Given the description of an element on the screen output the (x, y) to click on. 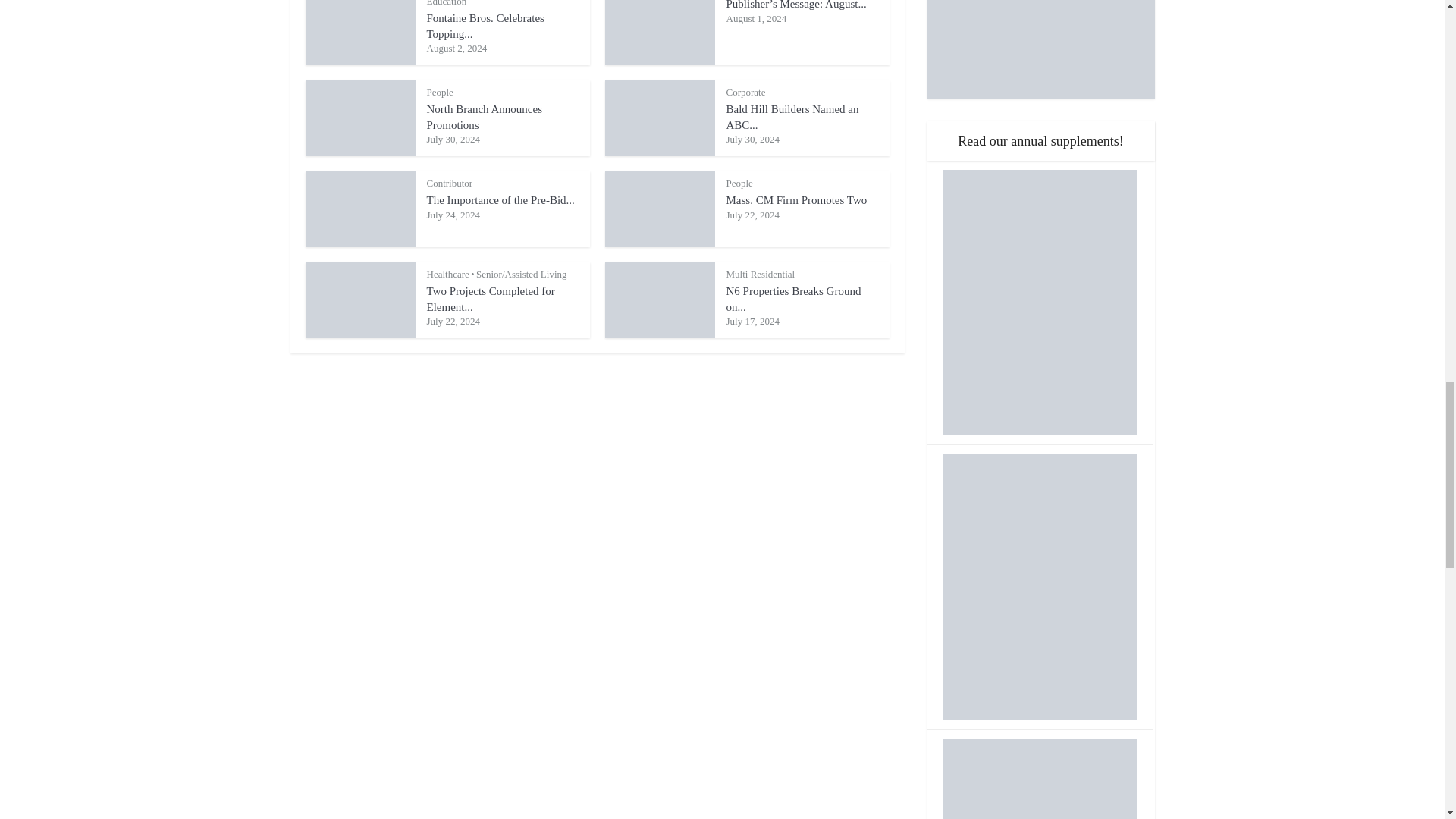
Mass. CM Firm Promotes Two (796, 200)
N6 Properties Breaks Ground on 50,000sf Apartment Building (793, 298)
The Importance of the Pre-Bid Conference (499, 200)
Two Projects Completed for Element Care PACE (490, 298)
North Branch Announces Promotions (483, 116)
